Given the description of an element on the screen output the (x, y) to click on. 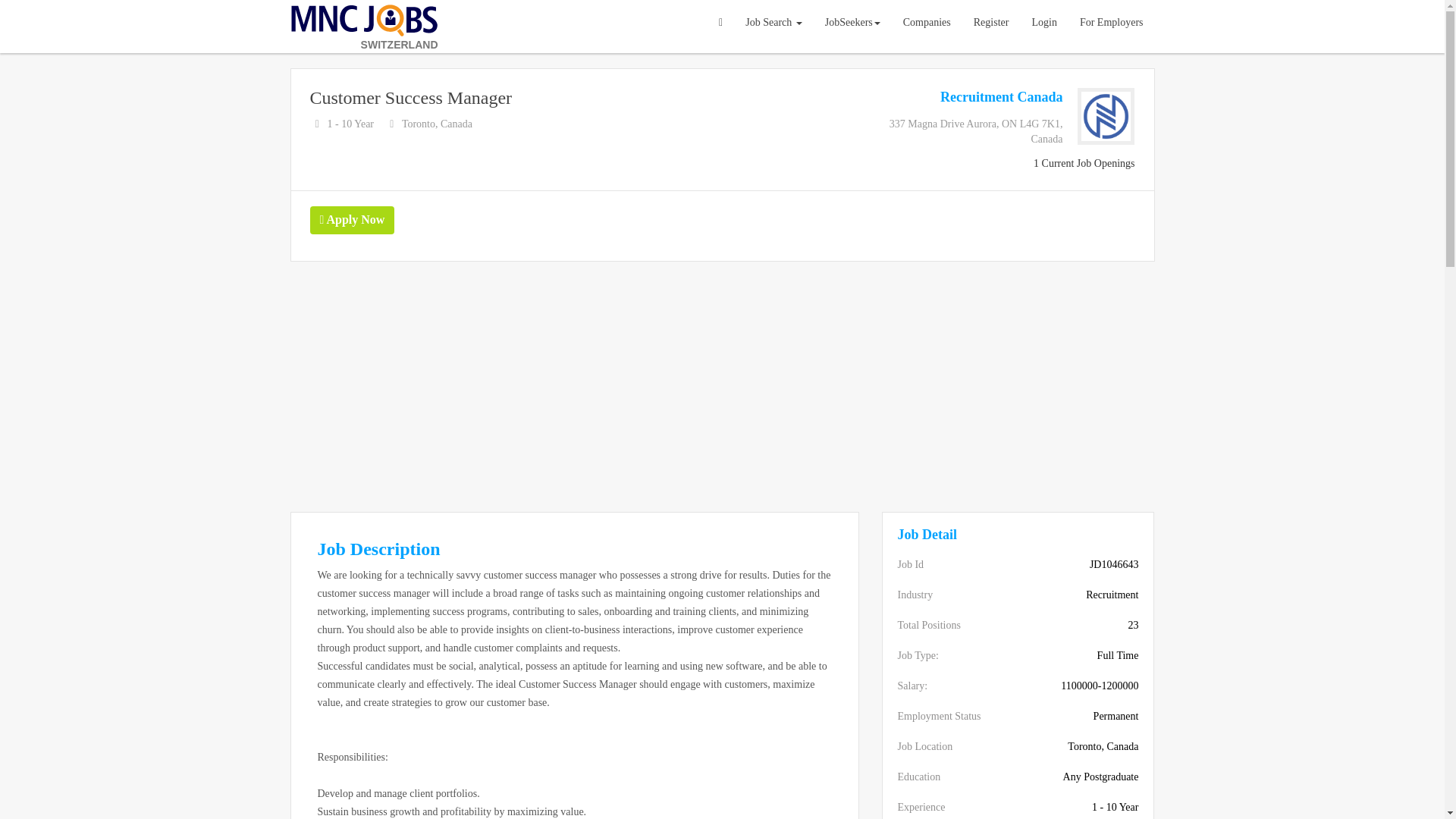
Recruitment Canada (1001, 96)
Job Search (773, 22)
Register (991, 22)
Employers Registration (1111, 22)
MNC Jobs Switzerland (363, 22)
Job Search (773, 22)
Login (1043, 22)
Companies (926, 22)
For Employers (1111, 22)
Apply Now (351, 220)
Job Seeker Registration (991, 22)
JobSeekers (852, 22)
Job Seeker Login (1043, 22)
JobSeekers (852, 22)
1 Current Job Openings (1083, 163)
